Given the description of an element on the screen output the (x, y) to click on. 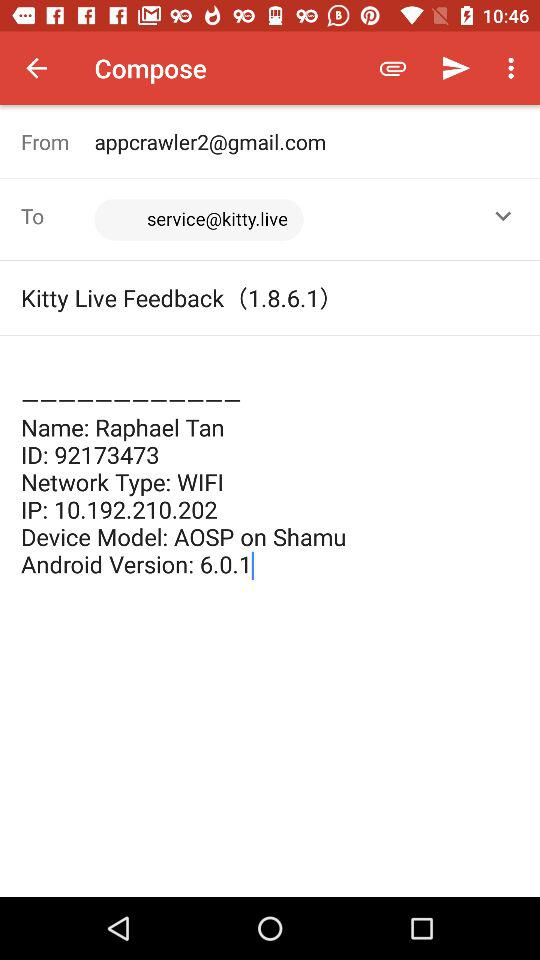
launch the item next to the compose icon (392, 67)
